Given the description of an element on the screen output the (x, y) to click on. 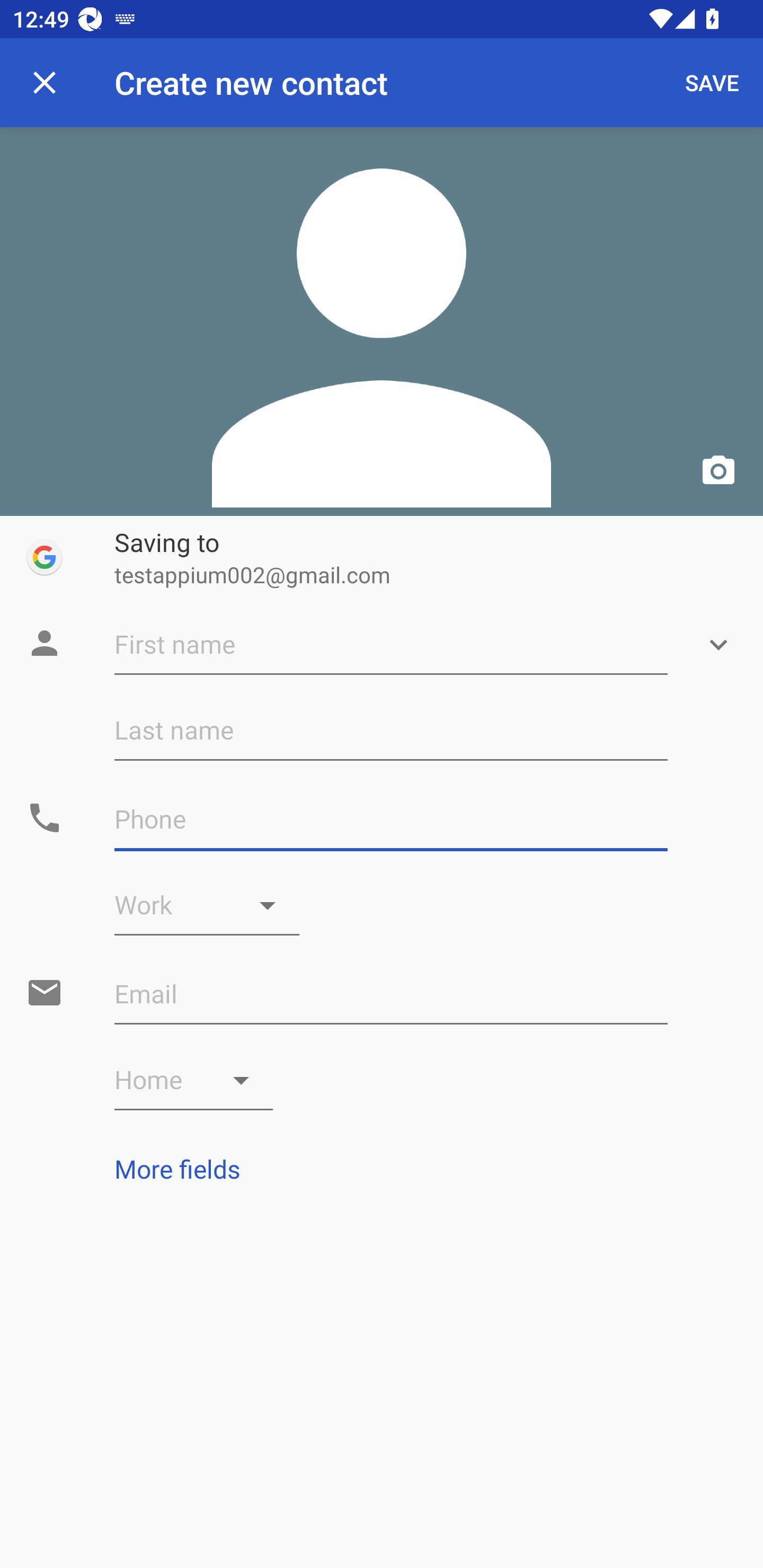
Cancel (44, 82)
SAVE (712, 82)
First name (390, 645)
Show more name fields (718, 645)
Last name (390, 730)
Phone (390, 819)
Phone Work (206, 905)
Email (390, 993)
Email Home (193, 1079)
More fields (381, 1168)
